Given the description of an element on the screen output the (x, y) to click on. 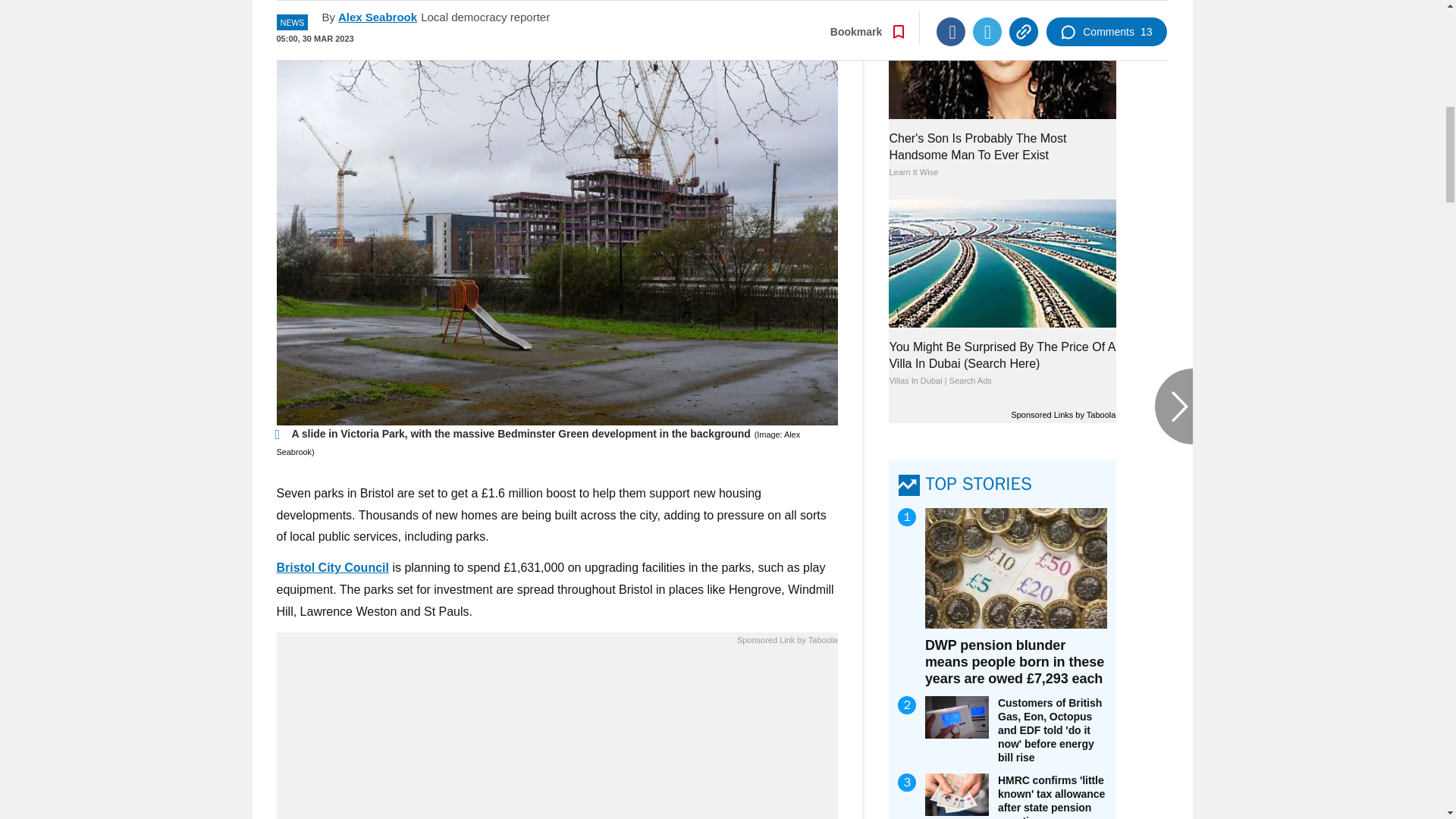
Go (730, 17)
What is your writing missing? (557, 736)
